Given the description of an element on the screen output the (x, y) to click on. 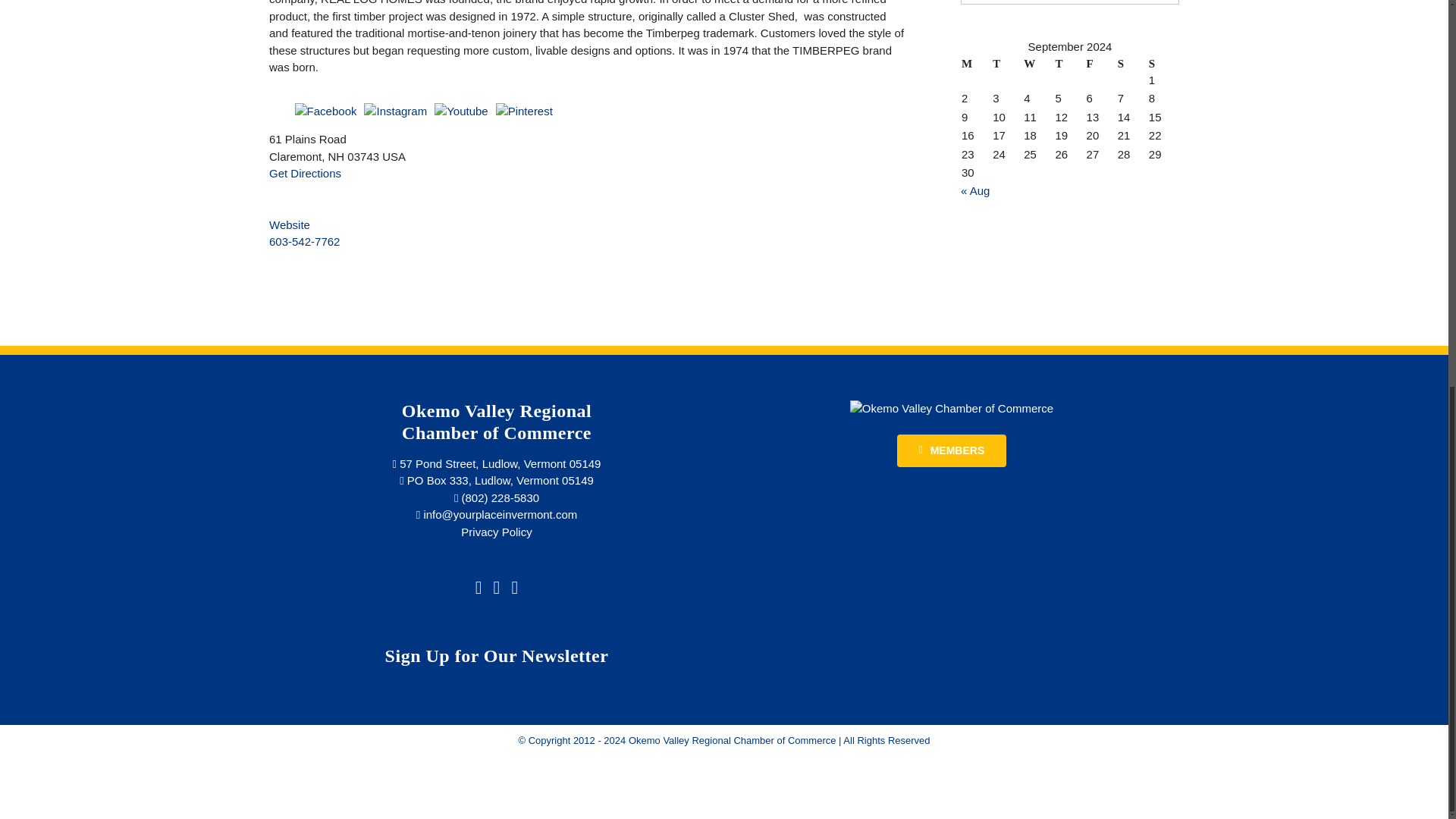
Monday (975, 63)
Tuesday (1007, 63)
